Given the description of an element on the screen output the (x, y) to click on. 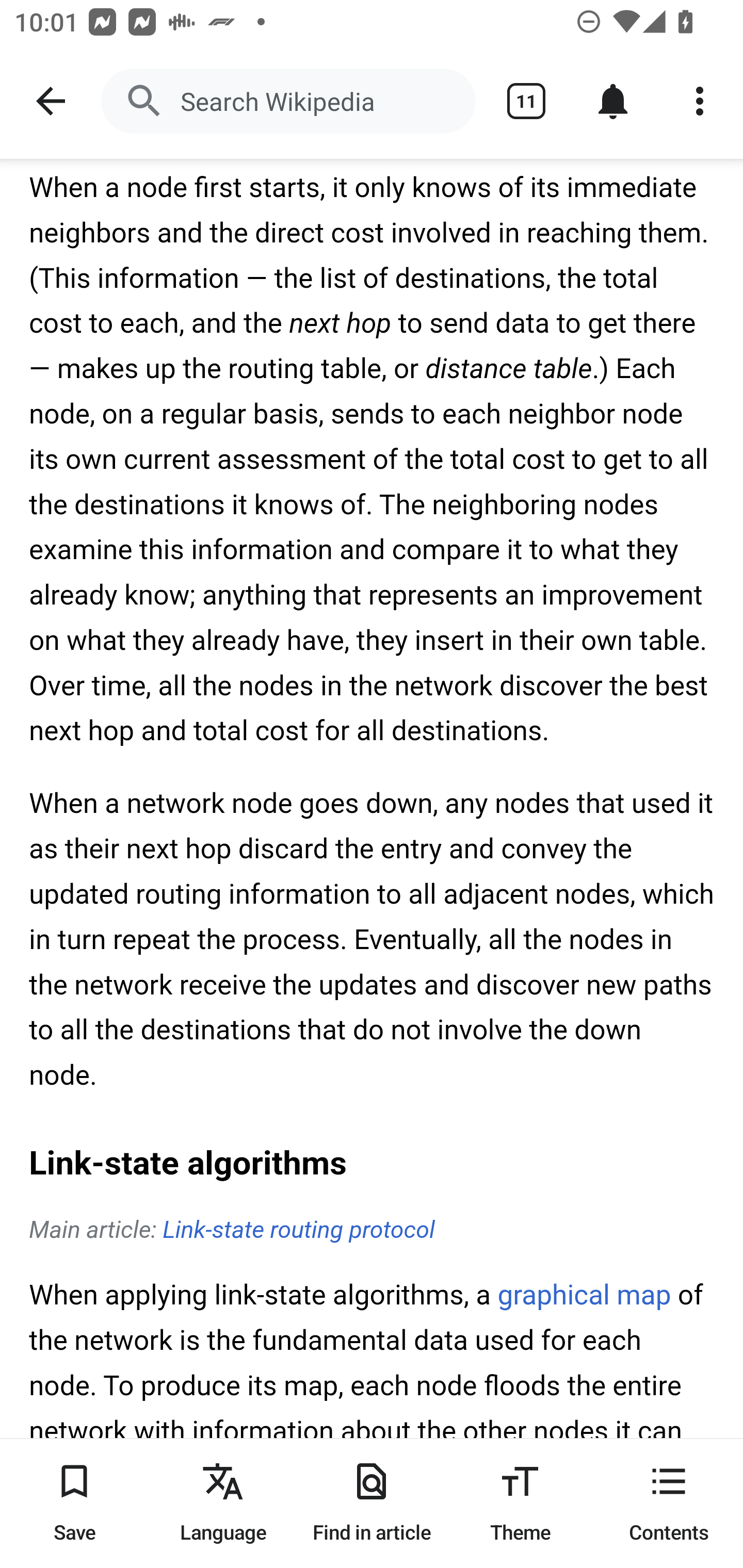
Show tabs 11 (525, 100)
Notifications (612, 100)
Navigate up (50, 101)
More options (699, 101)
Search Wikipedia (288, 100)
Link-state routing protocol (298, 1230)
graphical map (583, 1296)
Save (74, 1502)
Language (222, 1502)
Find in article (371, 1502)
Theme (519, 1502)
Contents (668, 1502)
